Given the description of an element on the screen output the (x, y) to click on. 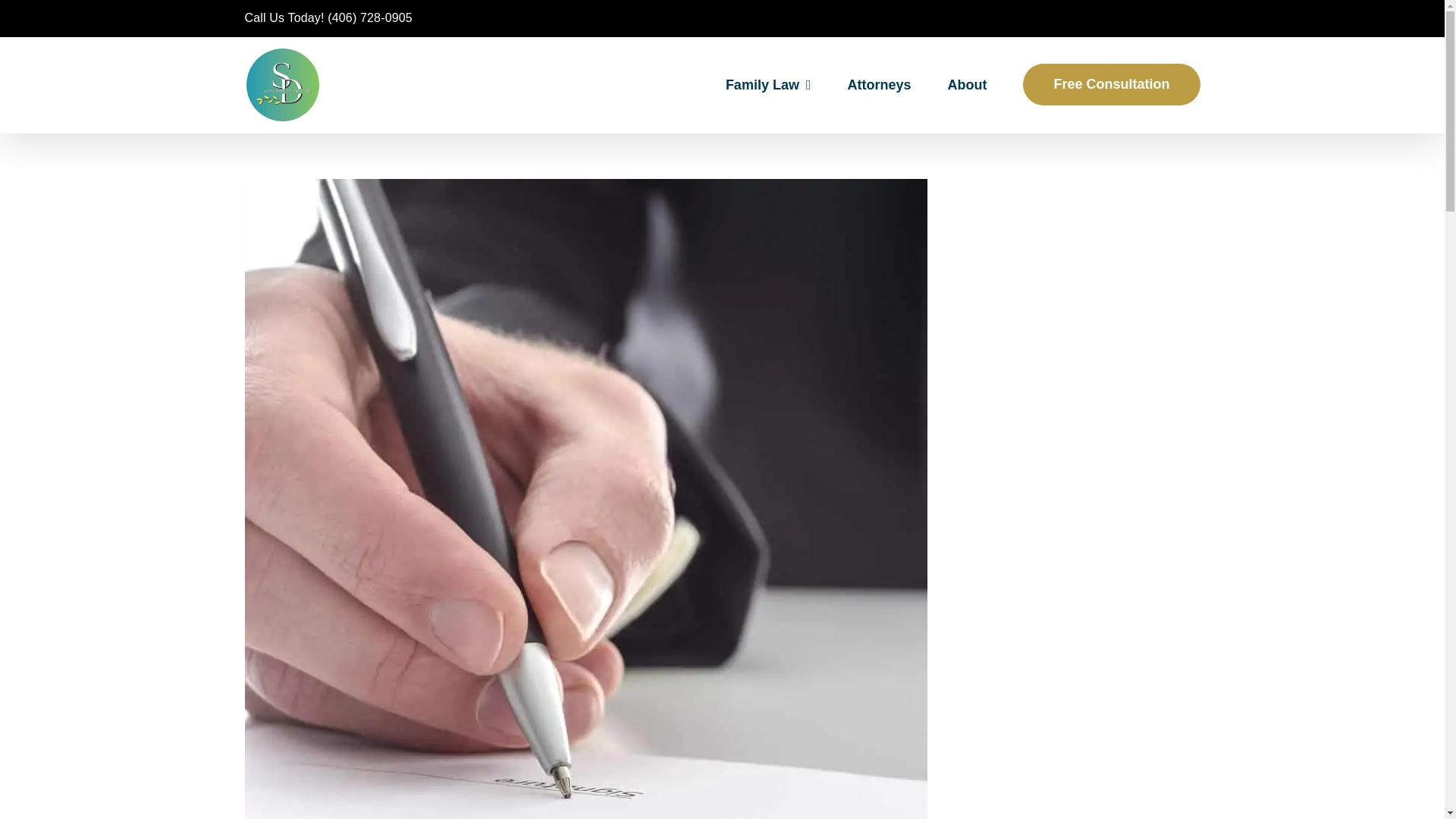
Free Consultation (1111, 83)
Family Law (767, 83)
